Given the description of an element on the screen output the (x, y) to click on. 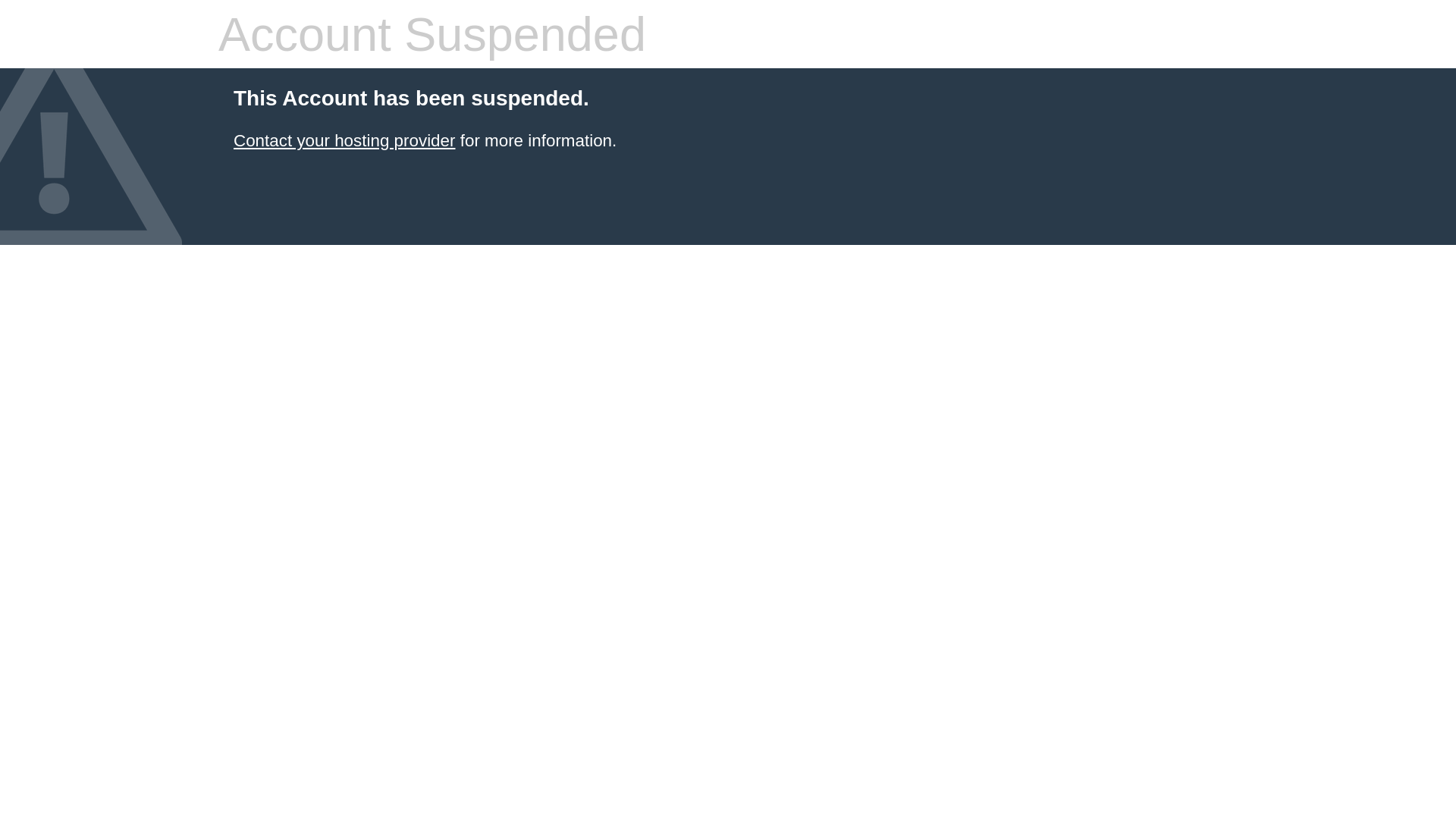
Contact your hosting provider Element type: text (344, 140)
